Given the description of an element on the screen output the (x, y) to click on. 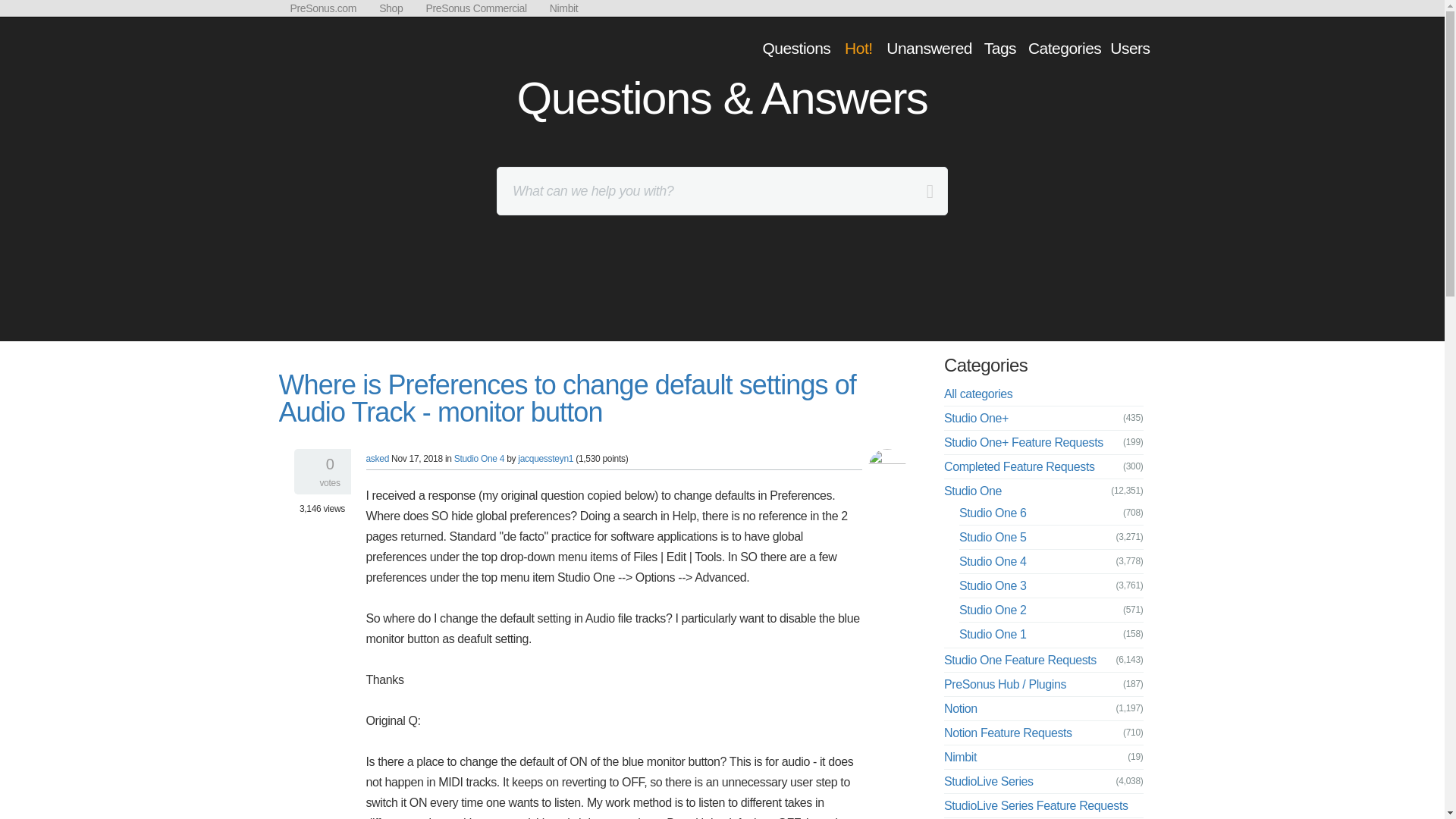
Hot! (857, 46)
Search (13, 13)
Users (1129, 46)
Categories (1065, 46)
Tags (999, 46)
PreSonus.com (322, 8)
Unanswered (928, 46)
asked (376, 458)
PreSonus Commercial (475, 8)
Shop (390, 8)
